Given the description of an element on the screen output the (x, y) to click on. 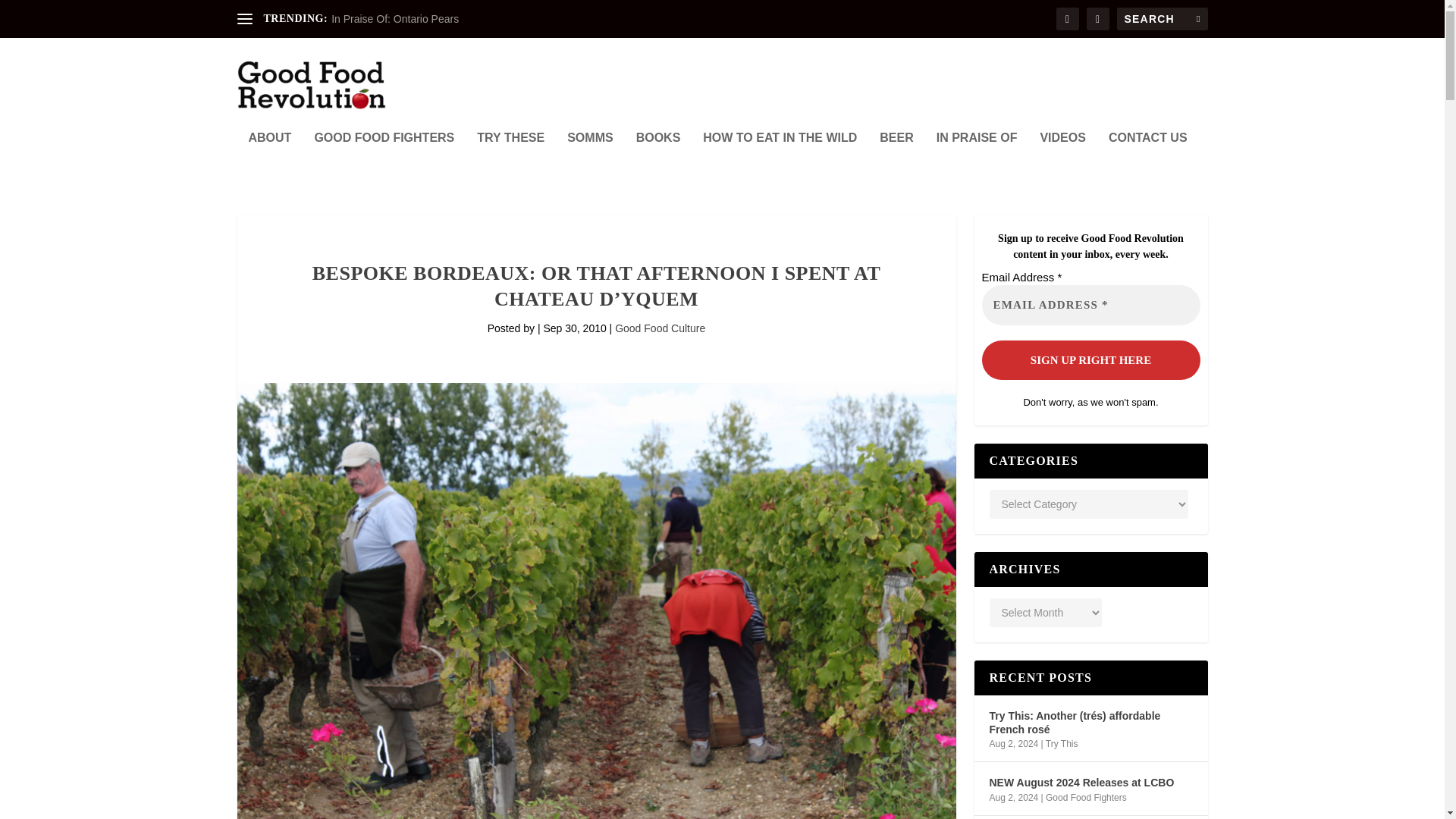
HOW TO EAT IN THE WILD (780, 158)
Good Food Culture (659, 328)
Sign Up Right Here (1090, 359)
GOOD FOOD FIGHTERS (384, 158)
IN PRAISE OF (976, 158)
Search for: (1161, 18)
In Praise Of: Ontario Pears (394, 19)
TRY THESE (510, 158)
CONTACT US (1148, 158)
